Given the description of an element on the screen output the (x, y) to click on. 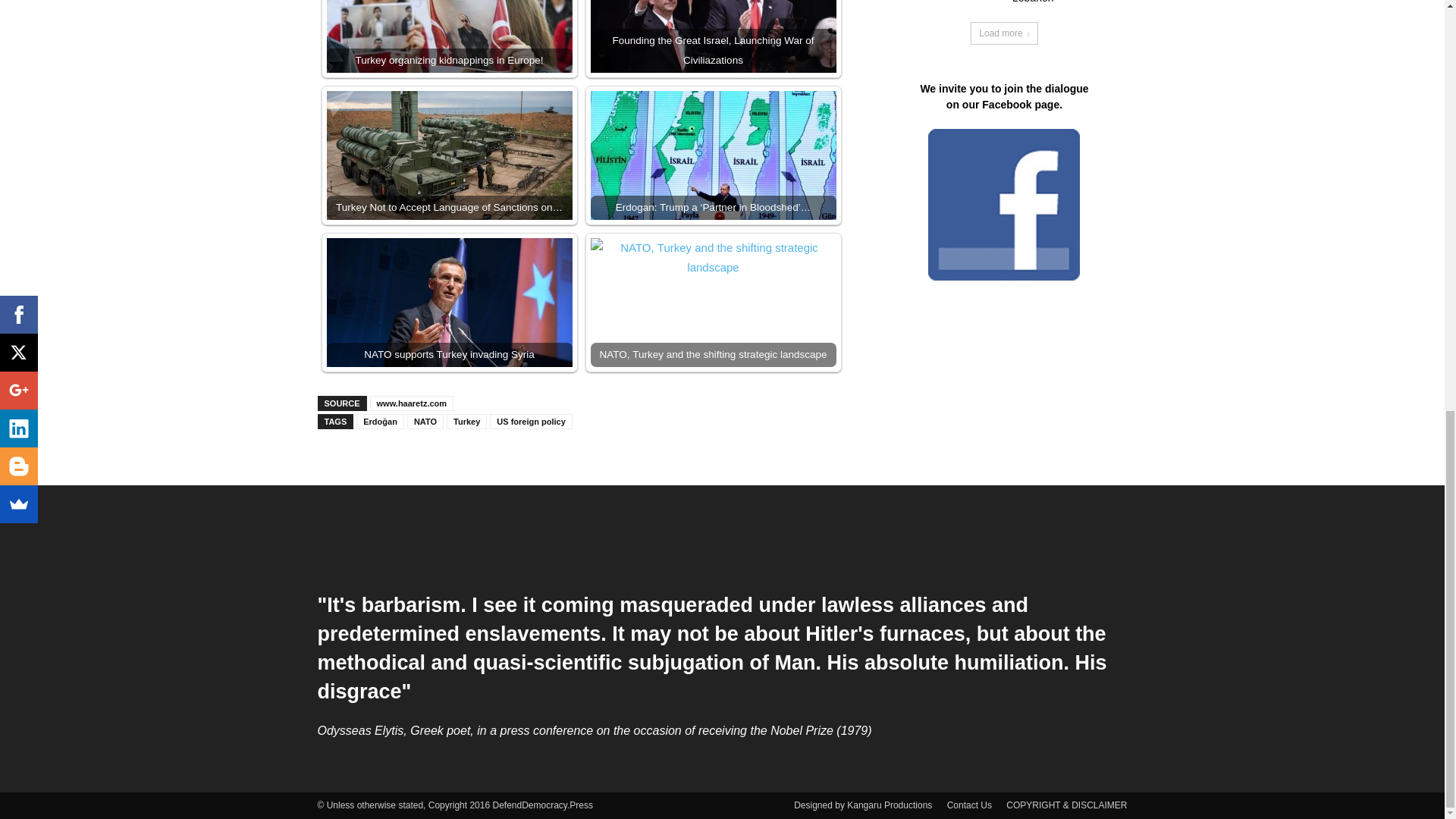
Founding the Great Israel, Launching War of Civiliazations (712, 36)
NATO supports Turkey invading Syria (449, 302)
Turkey organizing kidnappings in Europe! (449, 36)
